Given the description of an element on the screen output the (x, y) to click on. 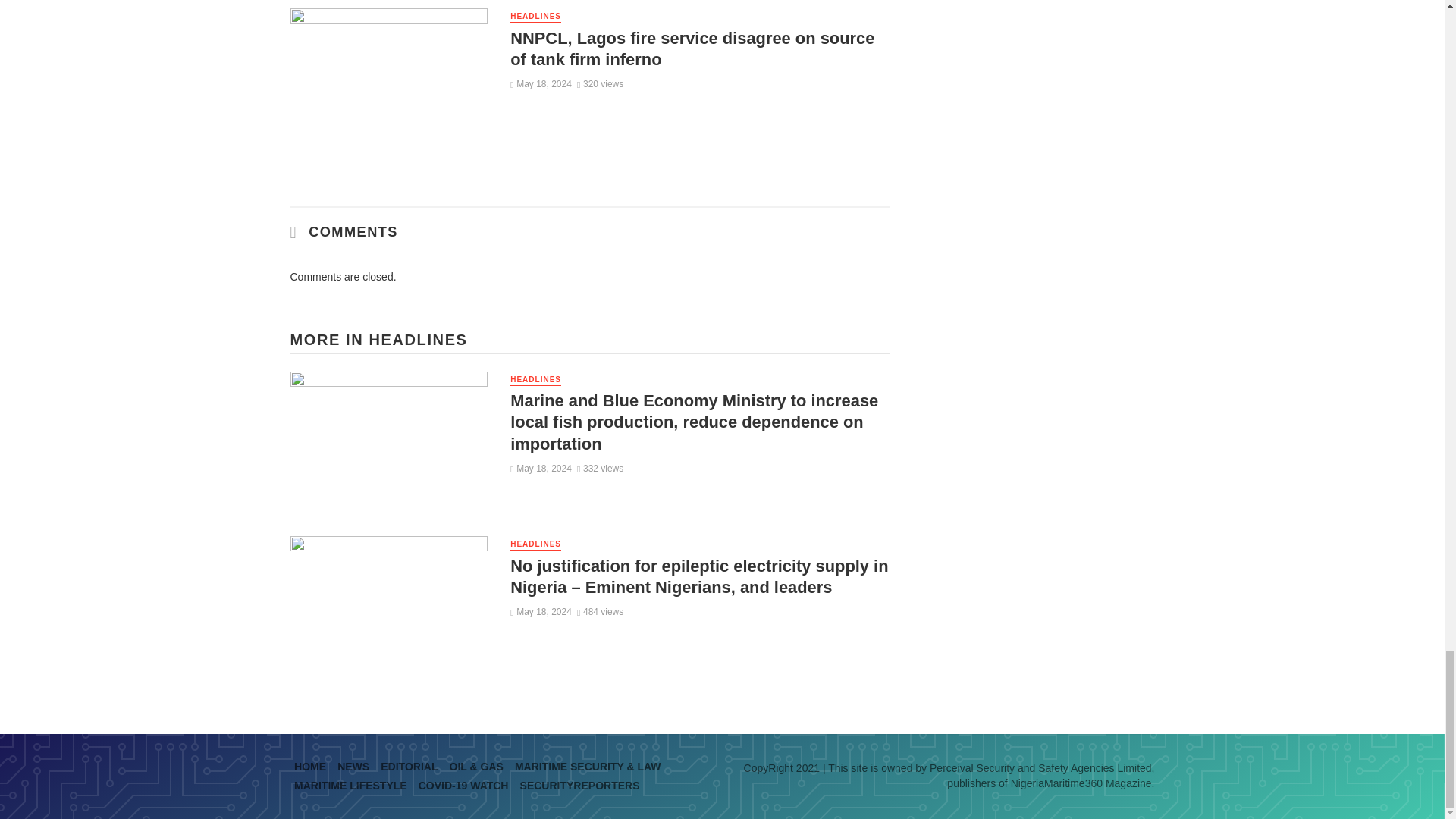
May 18, 2024 at 12:14 am (541, 83)
